Given the description of an element on the screen output the (x, y) to click on. 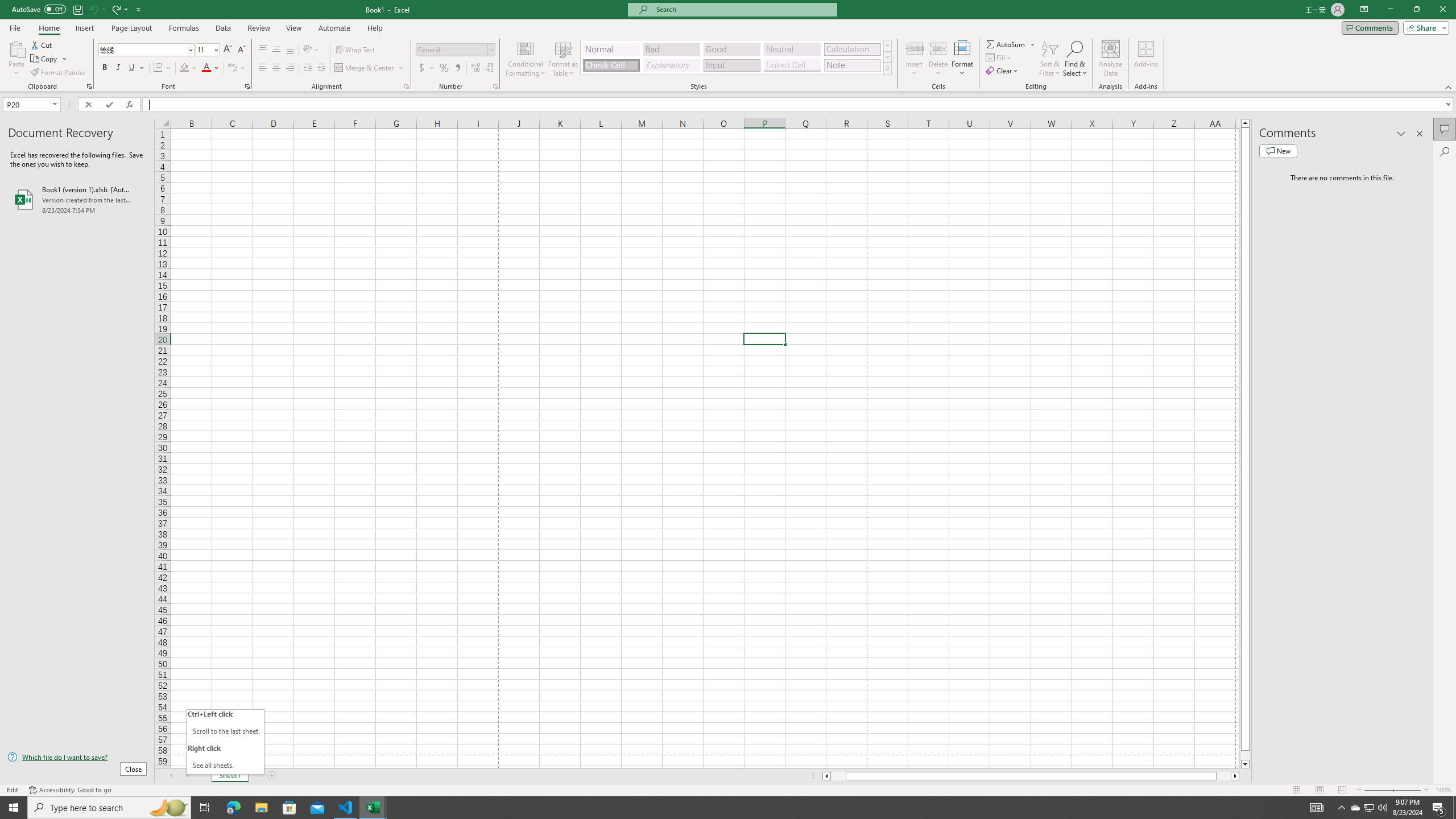
Decrease Indent (307, 67)
Bottom Border (157, 67)
Sort & Filter (1049, 58)
Decrease Font Size (240, 49)
Top Align (262, 49)
Underline (131, 67)
Font Size (207, 49)
Note (852, 65)
